Given the description of an element on the screen output the (x, y) to click on. 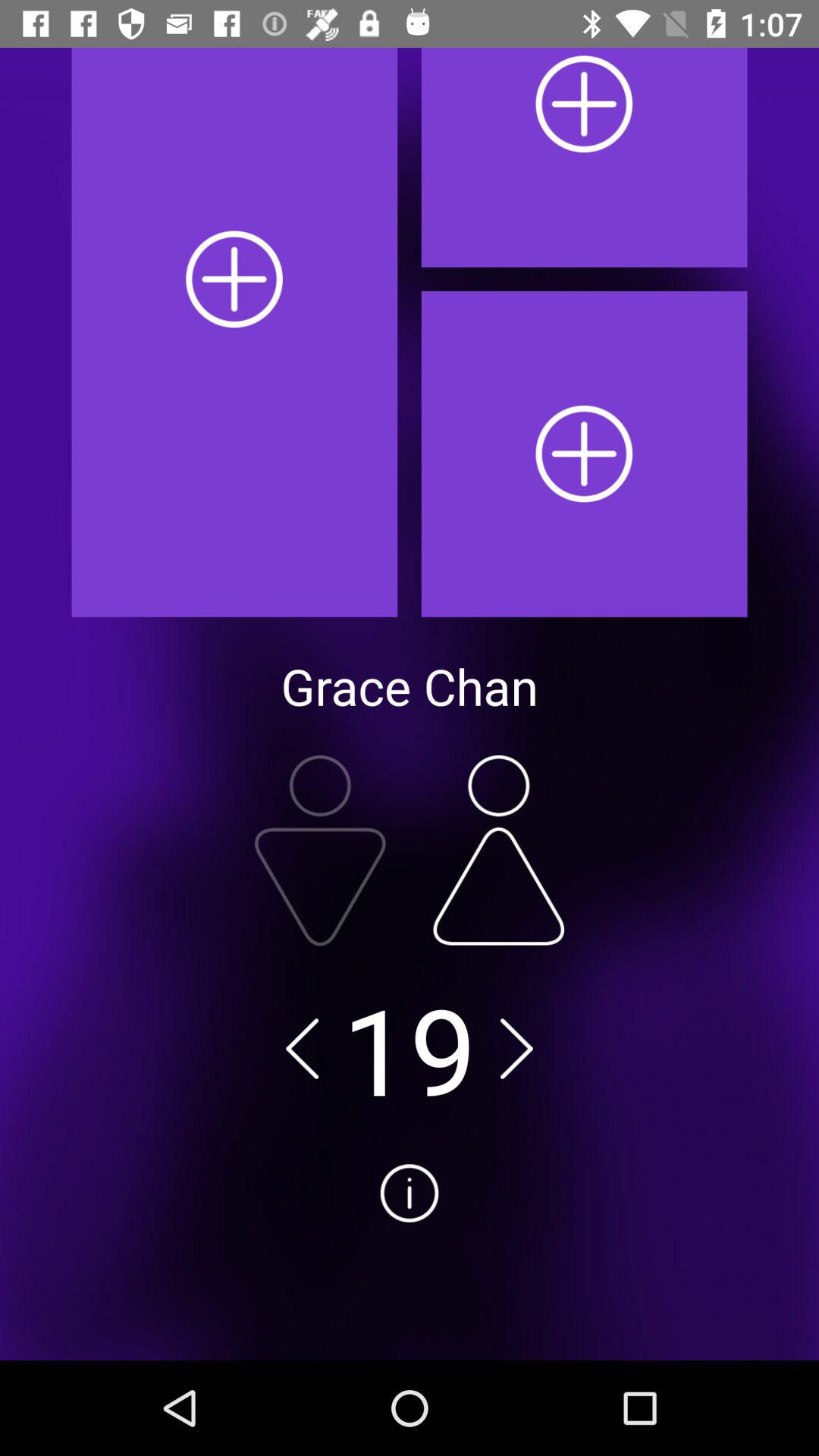
increase number (498, 850)
